Given the description of an element on the screen output the (x, y) to click on. 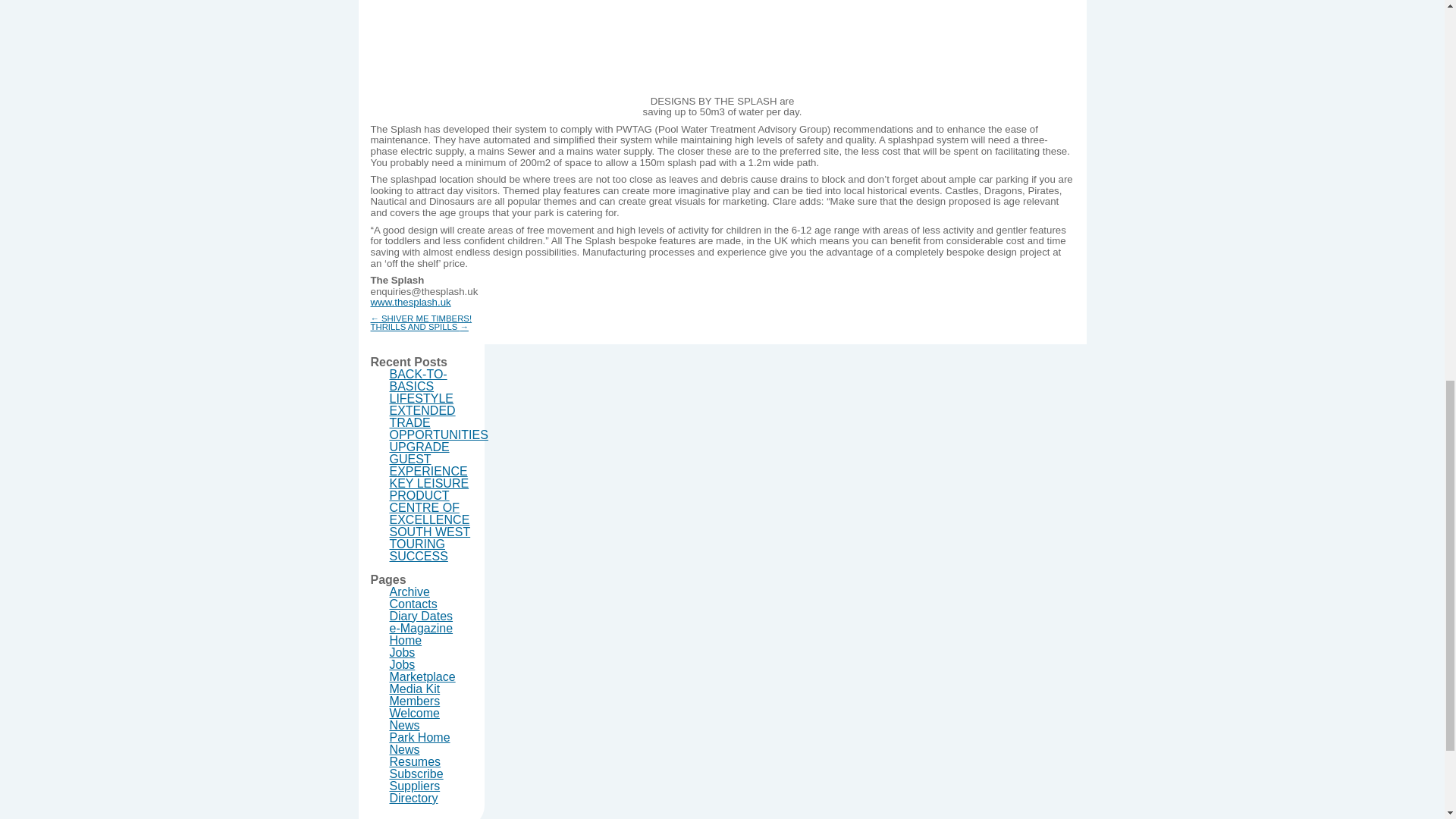
Contacts (414, 595)
KEY LEISURE PRODUCT CENTRE OF EXCELLENCE (430, 493)
Park Home News (419, 735)
UPGRADE GUEST EXPERIENCE (428, 451)
News (405, 717)
Jobs (402, 656)
EXTENDED TRADE OPPORTUNITIES (438, 415)
SOUTH WEST TOURING SUCCESS (430, 536)
Home (406, 632)
Subscribe (417, 766)
Diary Dates (421, 608)
e-Magazine (421, 620)
Members Welcome (415, 699)
Suppliers Directory (415, 784)
BACK-TO-BASICS LIFESTYLE (421, 378)
